Given the description of an element on the screen output the (x, y) to click on. 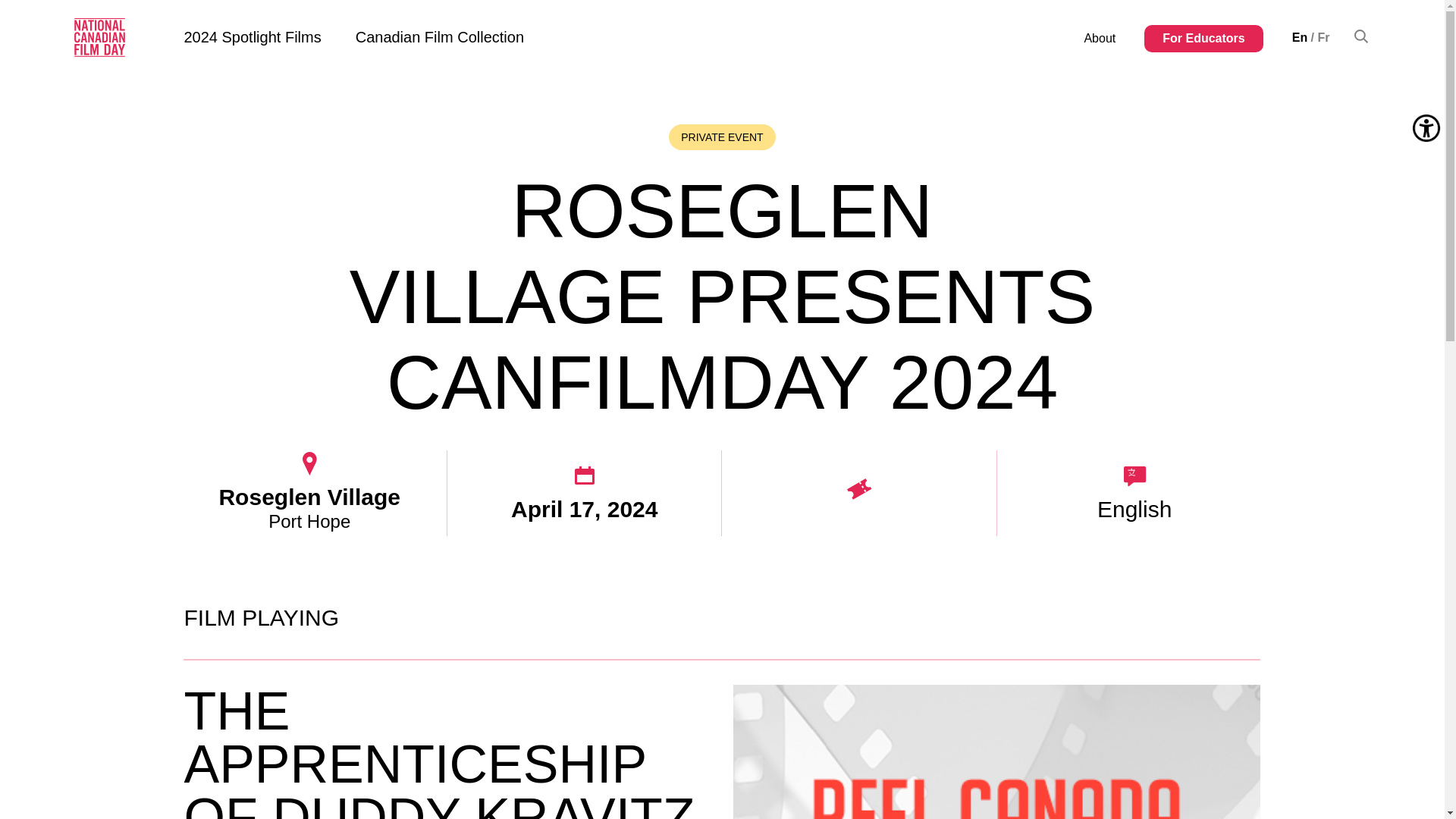
For Educators (1203, 37)
About (1099, 37)
2024 Spotlight Films (251, 37)
Fr (1323, 37)
Canadian Film Collection (439, 37)
En (1299, 37)
English (1299, 37)
